Given the description of an element on the screen output the (x, y) to click on. 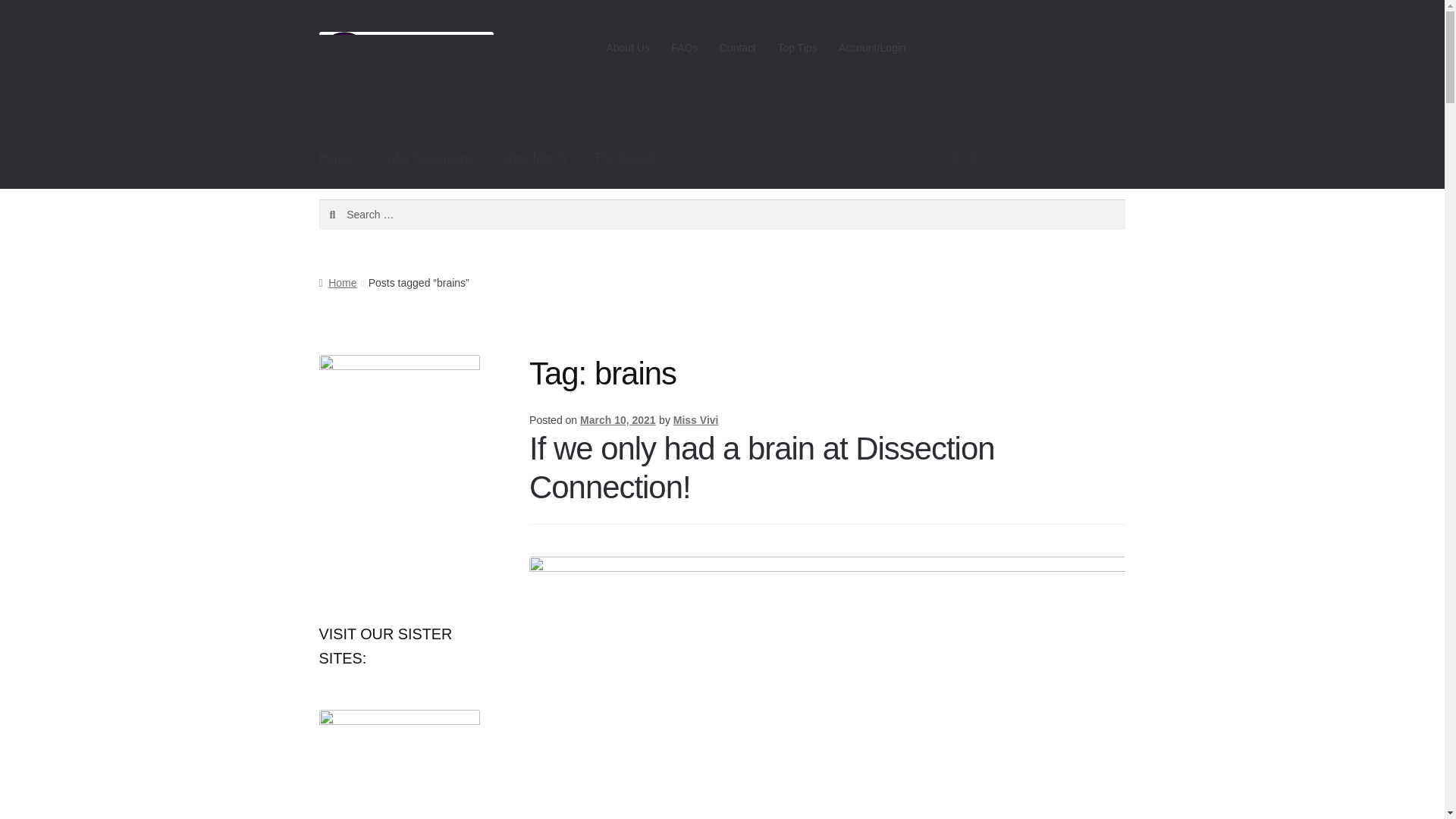
View your shopping cart (1037, 158)
If we only had a brain at Dissection Connection! (761, 467)
Contact (737, 47)
Shop Merch (533, 158)
Miss Vivi (695, 419)
About Us (627, 47)
Home (337, 282)
